Given the description of an element on the screen output the (x, y) to click on. 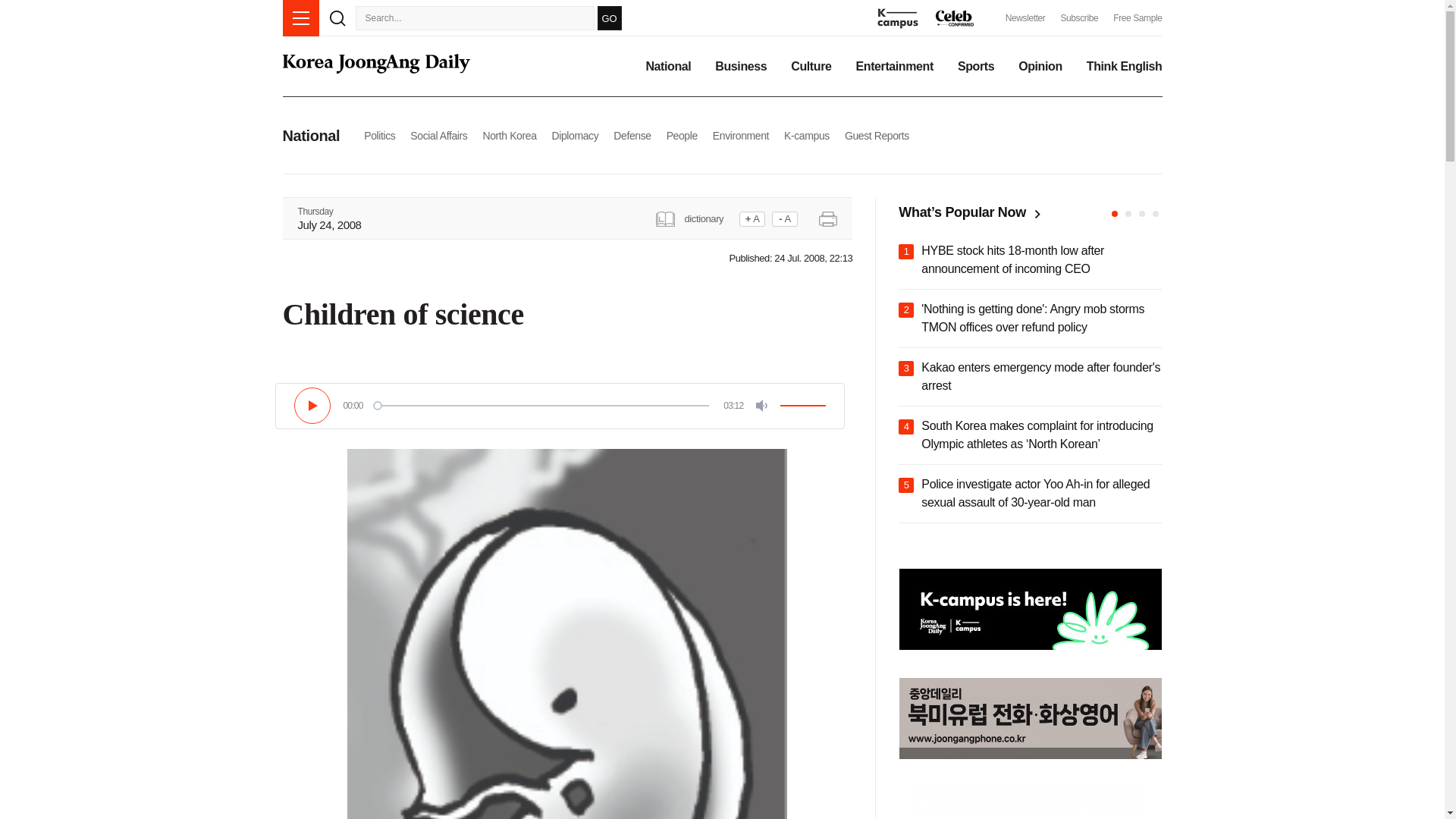
Sports (976, 66)
Politics (379, 135)
Defense (631, 135)
Environment (740, 135)
K-campus (806, 135)
People (681, 135)
Social Affairs (438, 135)
Politics (379, 135)
Social Affairs (438, 135)
Diplomacy (574, 135)
K-campus (806, 135)
Subscribe (1078, 18)
Business (740, 66)
Entertainment (894, 66)
Environment (740, 135)
